Given the description of an element on the screen output the (x, y) to click on. 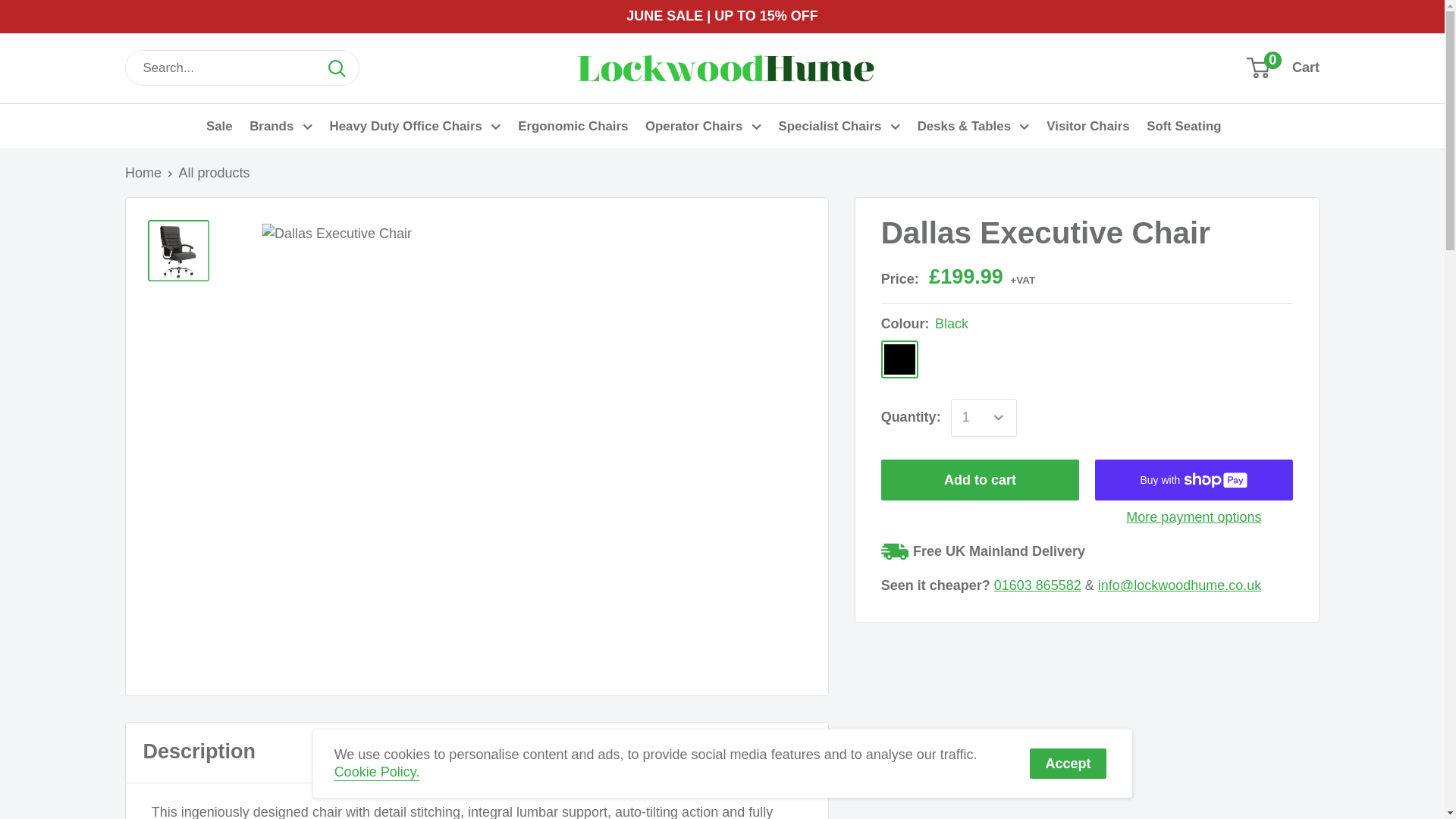
Privacy Policy (377, 771)
Black (899, 359)
